Given the description of an element on the screen output the (x, y) to click on. 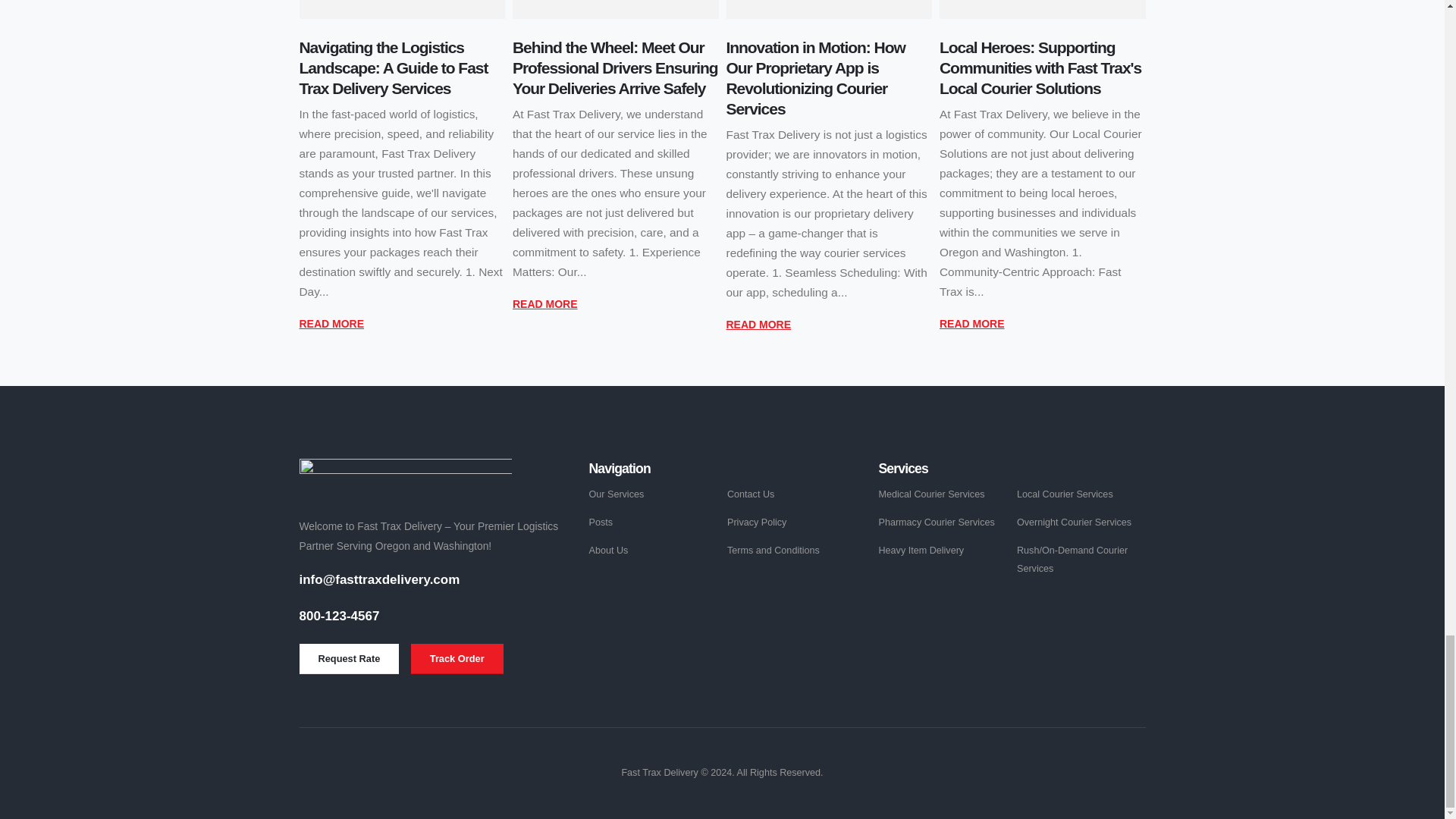
fasttraxdelivery-logo-white (404, 477)
Request Rate (348, 658)
Contact Fast Trax Delivery (348, 658)
Track Order (456, 658)
Our Services (615, 493)
READ MORE (331, 323)
About Us (607, 550)
READ MORE (971, 323)
READ MORE (545, 303)
Posts (600, 521)
800-123-4567 (338, 616)
